Given the description of an element on the screen output the (x, y) to click on. 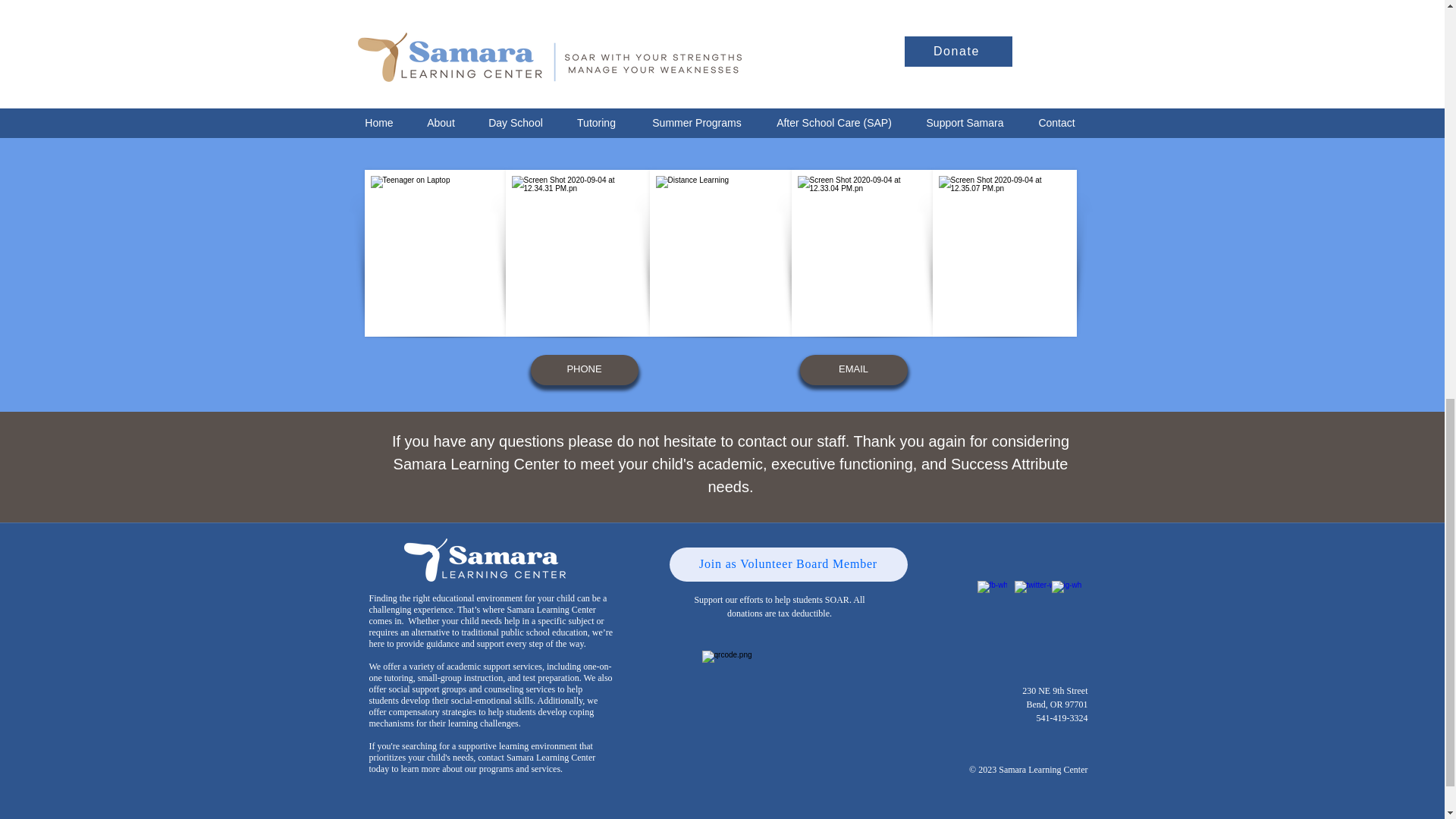
Screen Shot 2023-10-28 at 1.09.14 PM.png (780, 730)
Join as Volunteer Board Member (787, 564)
ONLINE ENROLLMENT (593, 104)
EMAIL (853, 369)
PHONE (585, 369)
